Given the description of an element on the screen output the (x, y) to click on. 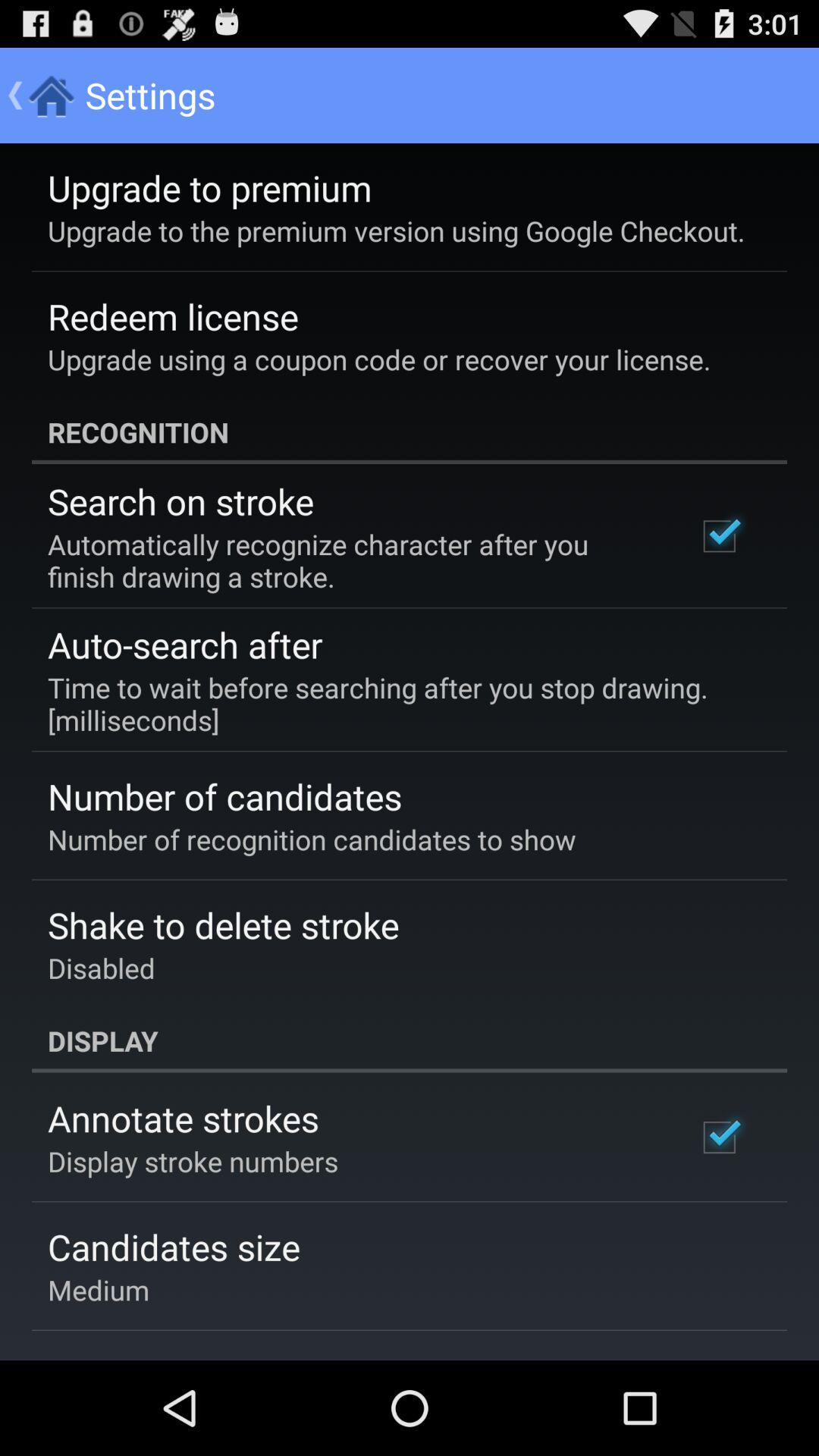
tap the candidates size item (173, 1246)
